Given the description of an element on the screen output the (x, y) to click on. 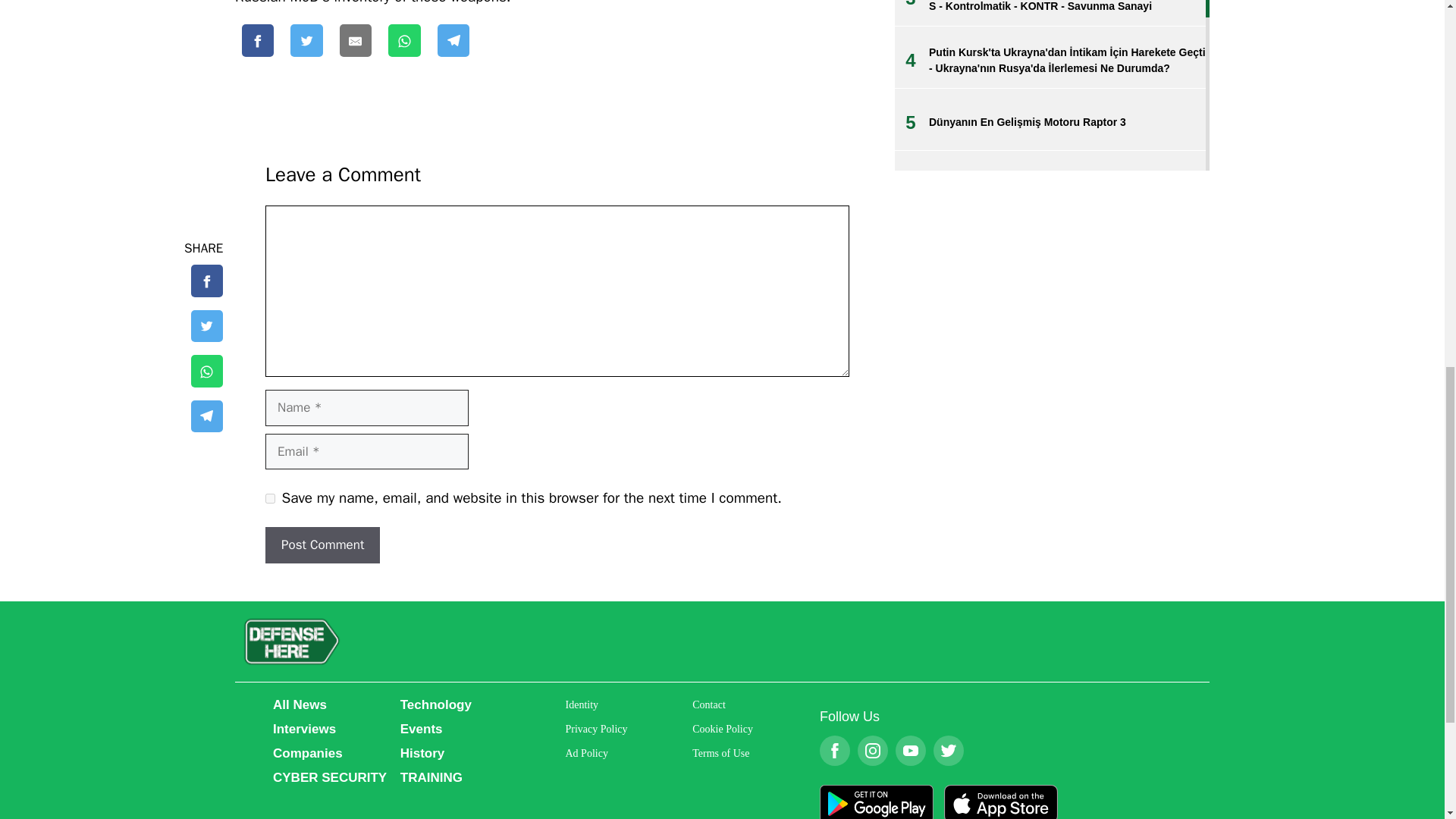
Post Comment (322, 545)
Facebook (834, 760)
yes (269, 498)
